Given the description of an element on the screen output the (x, y) to click on. 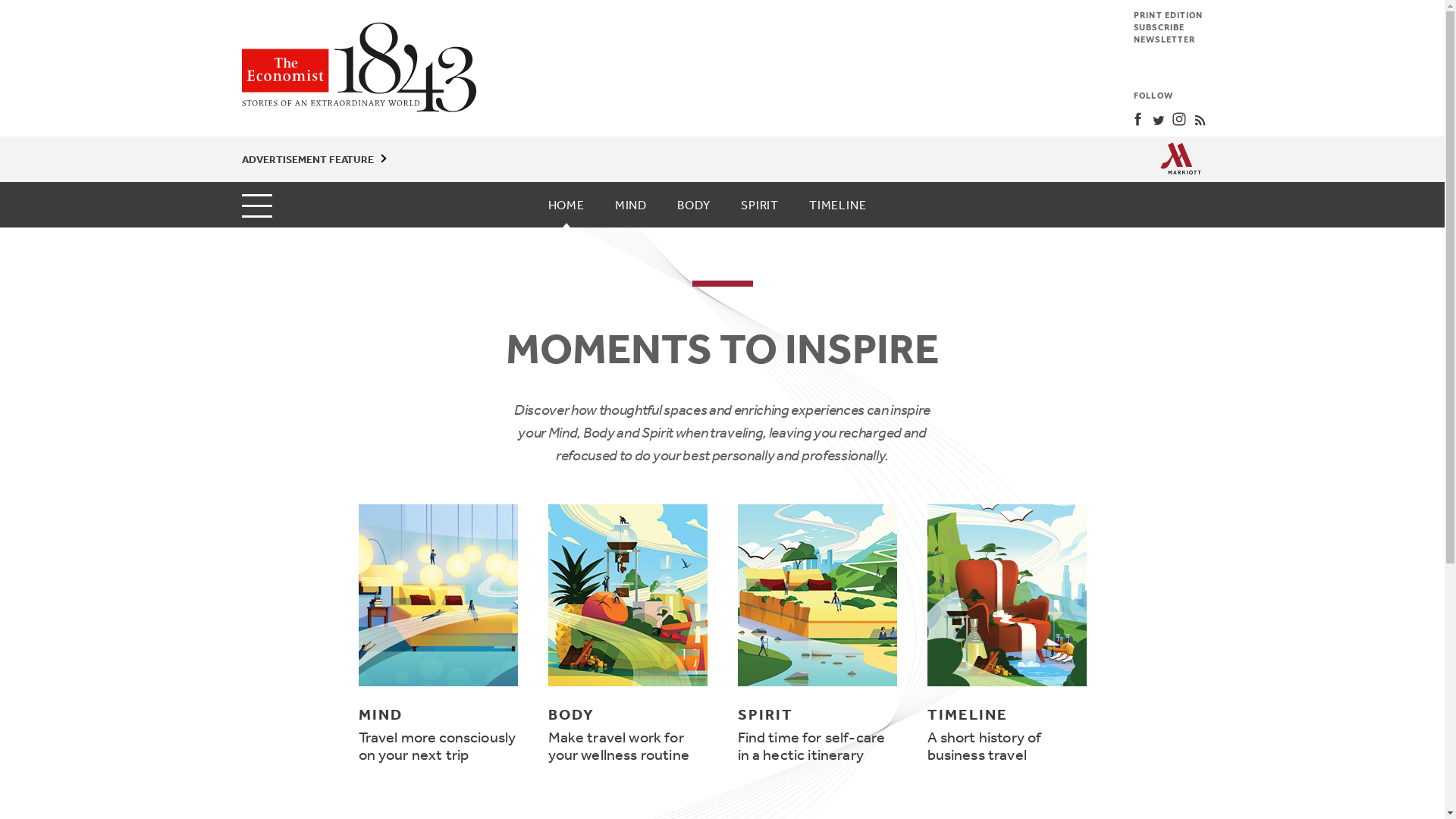
SPIRIT Element type: text (759, 204)
PRINT EDITION Element type: text (1167, 15)
SUBSCRIBE Element type: text (1158, 27)
MIND
Travel more consciously on your next trip Element type: text (437, 633)
TIMELINE
A short history of business travel Element type: text (1005, 633)
BODY
Make travel work for your wellness routine Element type: text (626, 633)
ADVERTISEMENT FEATURE Element type: text (307, 159)
MIND Element type: text (630, 204)
NEWSLETTER Element type: text (1164, 39)
TIMELINE Element type: text (837, 204)
SPIRIT
Find time for self-care in a hectic itinerary Element type: text (816, 633)
BODY Element type: text (693, 204)
HOME Element type: text (566, 204)
